Given the description of an element on the screen output the (x, y) to click on. 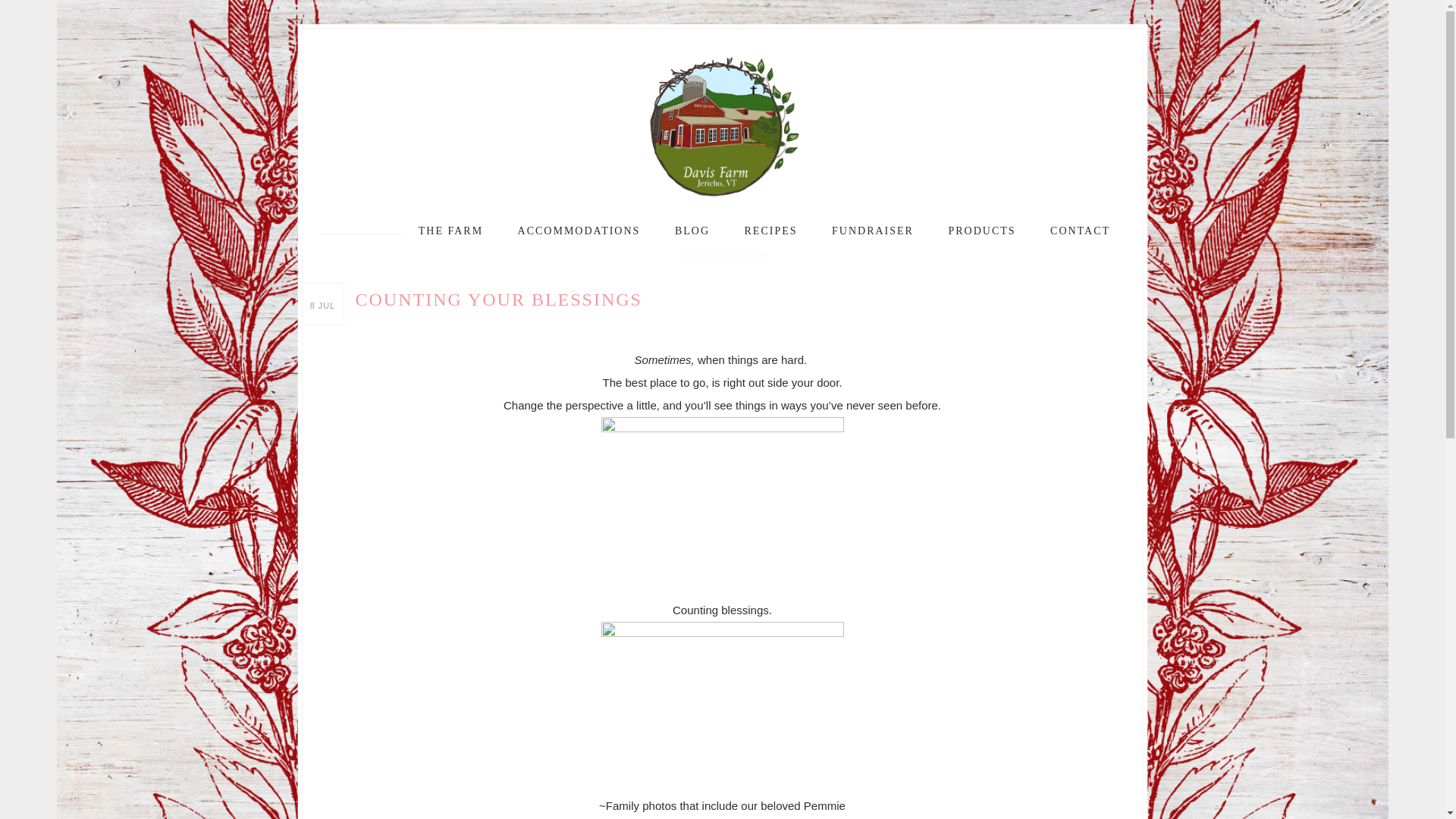
FUNDRAISER (872, 231)
CONTACT (1080, 231)
PRODUCTS (981, 231)
RECIPES (770, 231)
THE FARM (450, 231)
ACCOMMODATIONS (579, 231)
BLOG (692, 231)
